Given the description of an element on the screen output the (x, y) to click on. 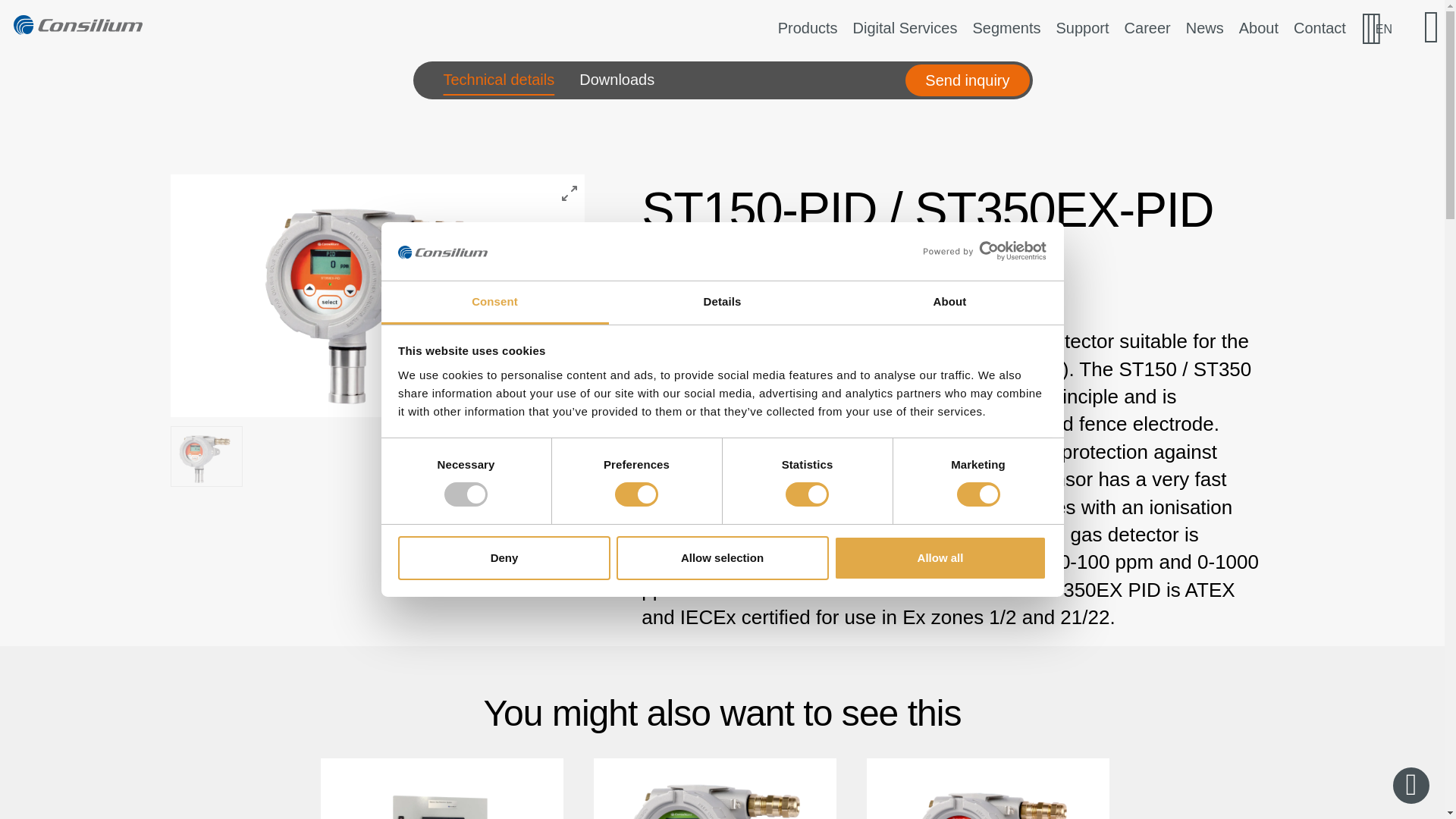
Allow all (940, 557)
CGD500 Touch (441, 788)
Deny (503, 557)
Consent (494, 302)
ST150xi - 000MAN-1221000-1221021 (987, 788)
Details (721, 302)
About (948, 302)
Allow selection (721, 557)
Technical details (498, 79)
